Given the description of an element on the screen output the (x, y) to click on. 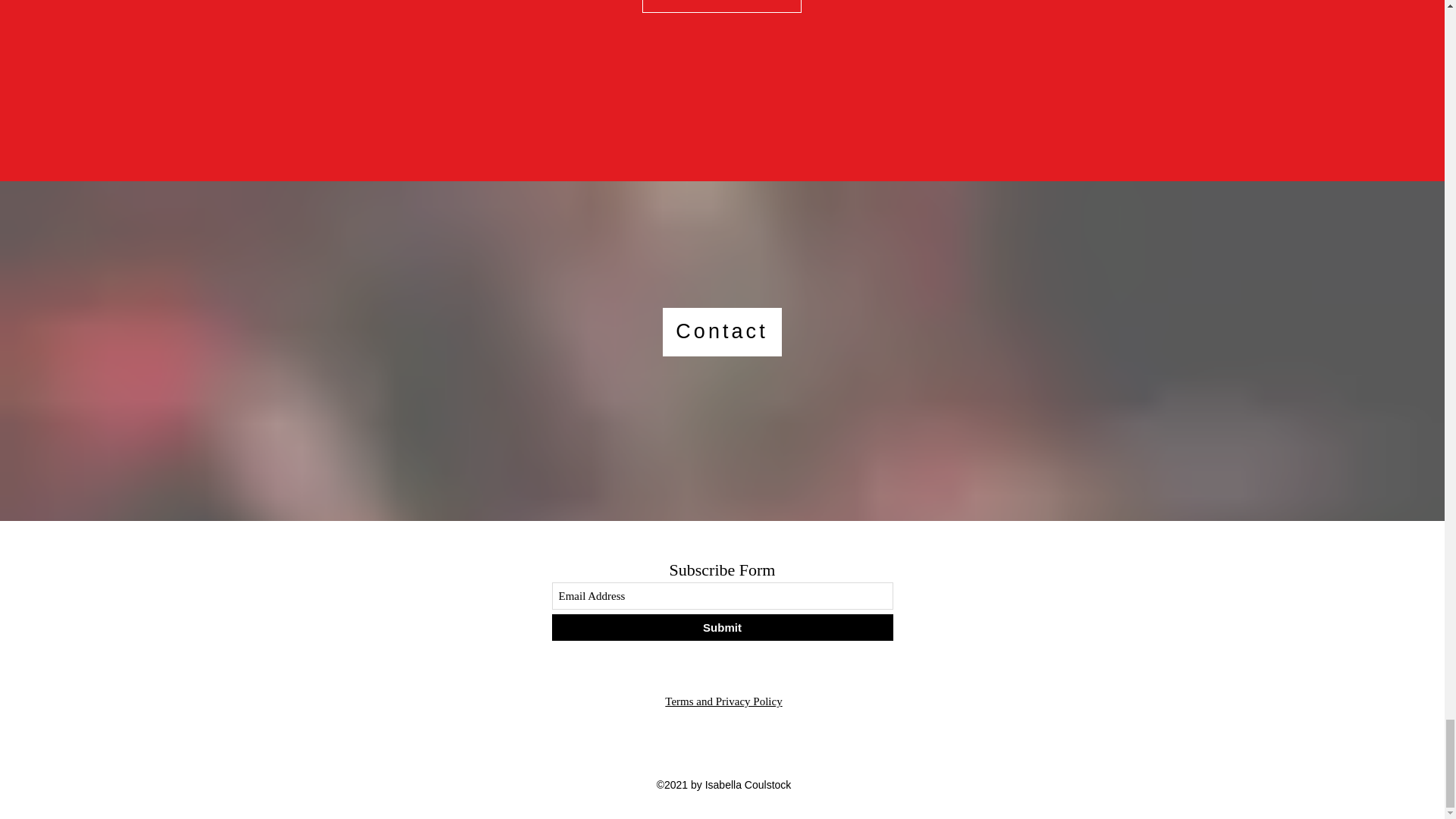
Submit (722, 627)
Contact (721, 331)
Terms and Privacy Policy (723, 701)
LIVE SHOWS (721, 6)
